Given the description of an element on the screen output the (x, y) to click on. 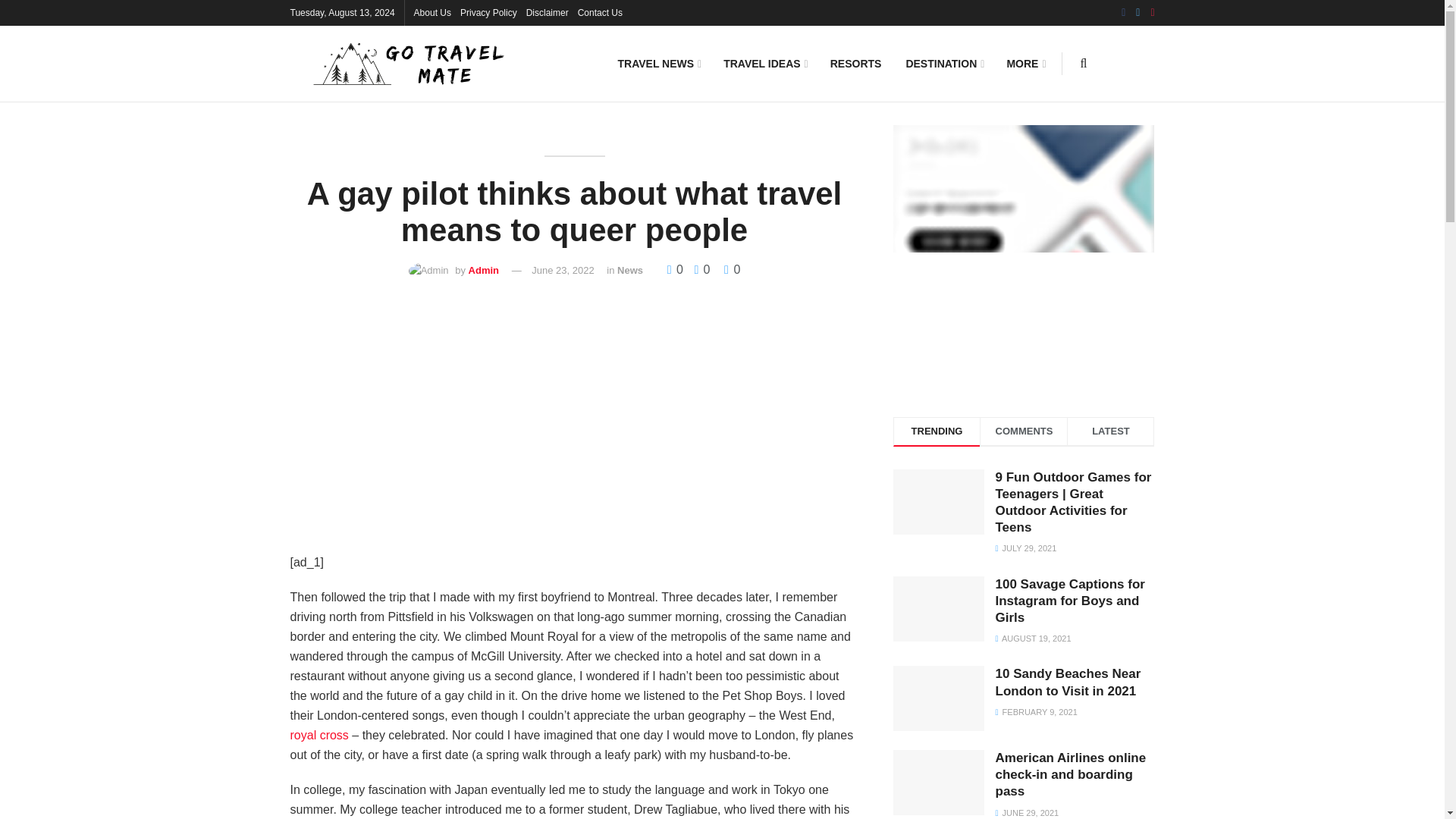
Disclaimer (547, 12)
TRAVEL IDEAS (764, 63)
Contact Us (600, 12)
TRAVEL NEWS (658, 63)
About Us (432, 12)
Privacy Policy (488, 12)
DESTINATION (943, 63)
RESORTS (855, 63)
Advertisement (574, 423)
